Given the description of an element on the screen output the (x, y) to click on. 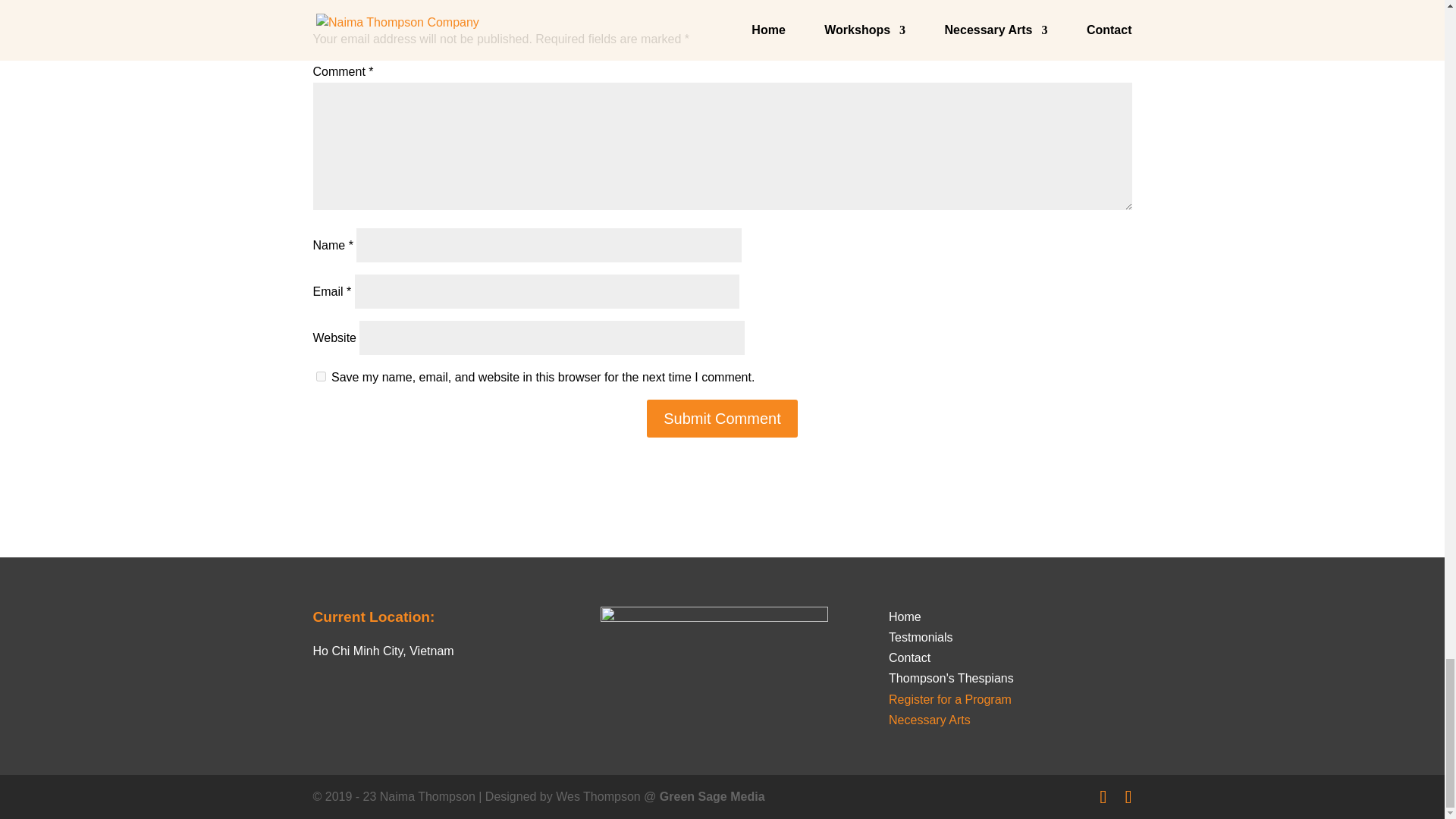
Thompson's Thespians (950, 677)
Home (904, 616)
Testmonials (920, 636)
Contact (909, 657)
Submit Comment (721, 418)
Necessary Arts (929, 719)
Submit Comment (721, 418)
Register for a Program (949, 698)
yes (319, 376)
Green Sage Media (712, 796)
